Given the description of an element on the screen output the (x, y) to click on. 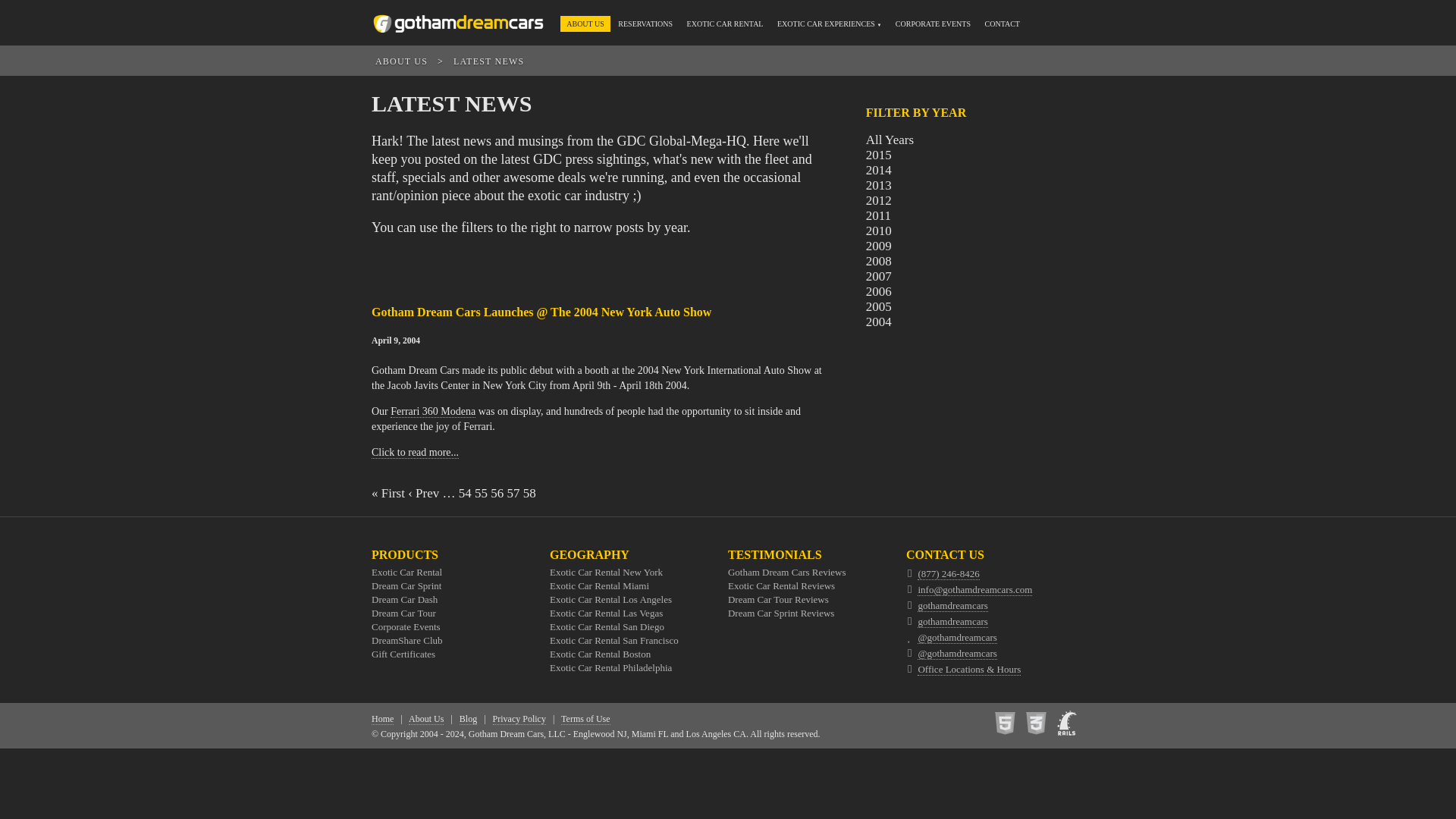
2007 (878, 276)
54 (464, 493)
Ferrari 360 (433, 411)
Gotham Dream Cars Twitter Account (956, 637)
Click to read more... (414, 452)
Gotham Dream Cars Facebook Page (952, 605)
2004 (878, 321)
57 (512, 493)
2015 (878, 155)
Exotic Car Rental (406, 572)
55 (480, 493)
CORPORATE EVENTS (933, 23)
2011 (878, 215)
2014 (878, 169)
2013 (878, 185)
